Given the description of an element on the screen output the (x, y) to click on. 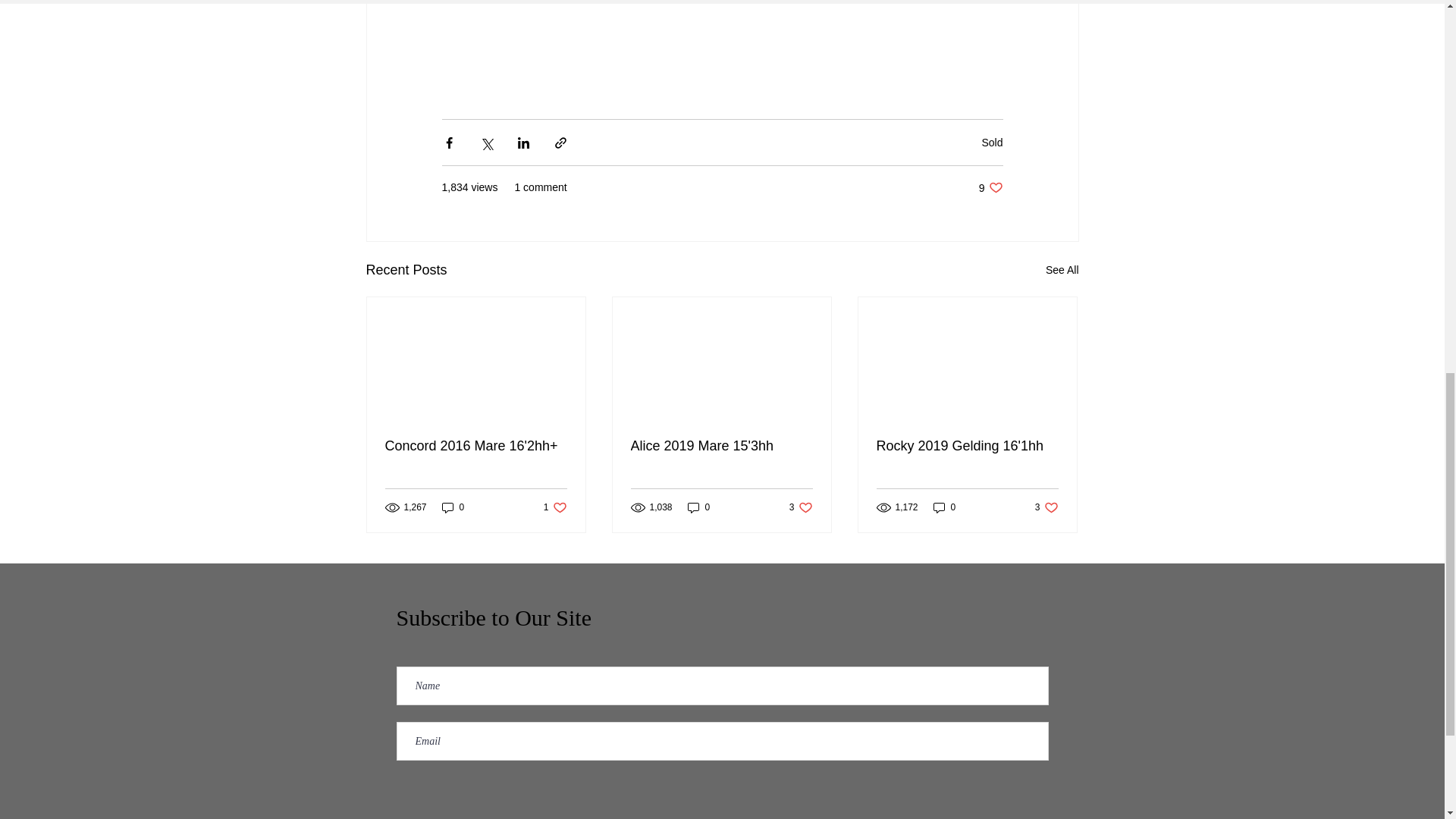
See All (1061, 270)
Alice 2019 Mare 15'3hh (555, 507)
0 (800, 507)
0 (990, 187)
Sold (721, 446)
0 (944, 507)
Rocky 2019 Gelding 16'1hh (698, 507)
